Given the description of an element on the screen output the (x, y) to click on. 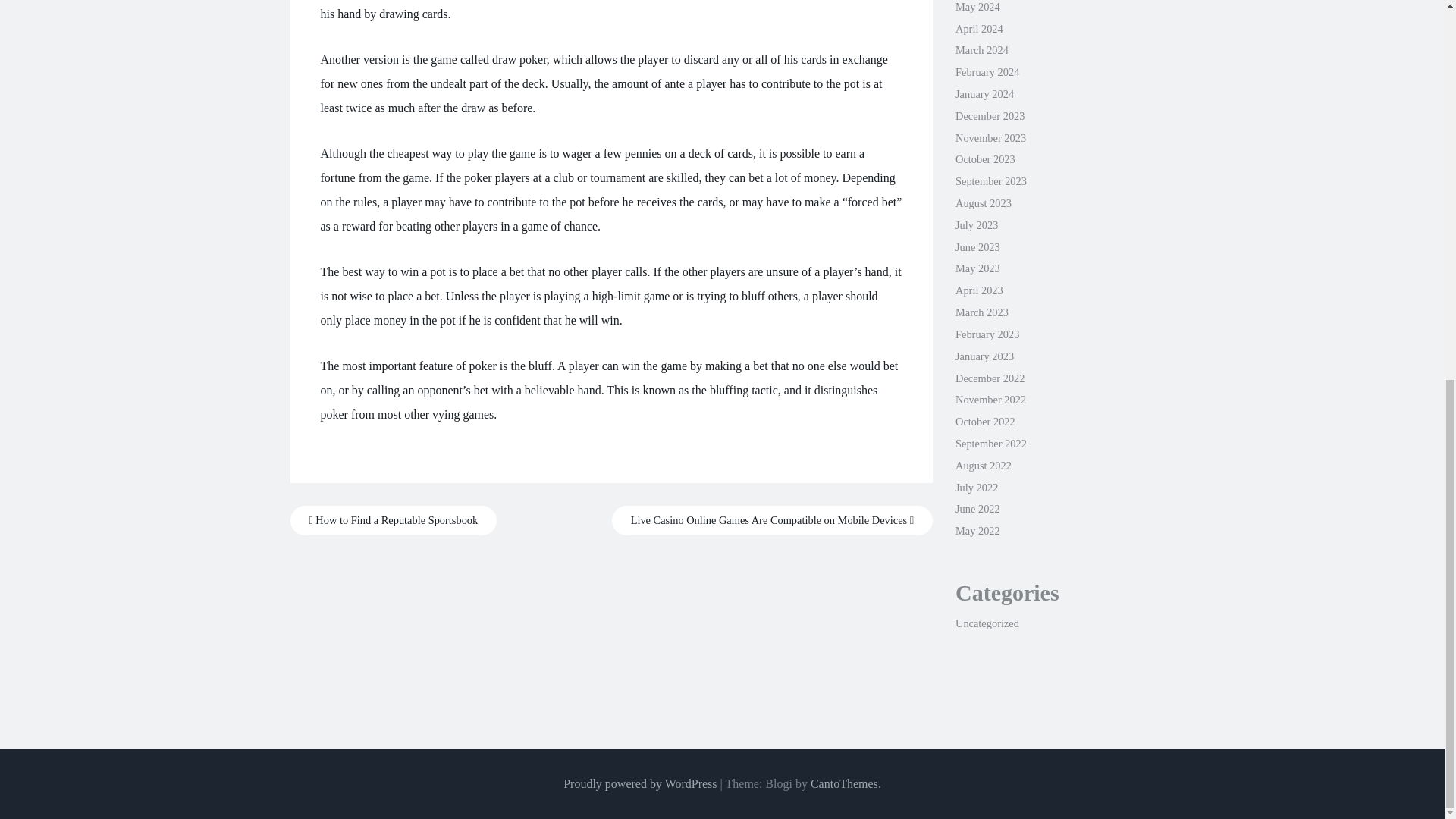
How to Find a Reputable Sportsbook (392, 520)
May 2024 (977, 6)
May 2023 (977, 268)
Live Casino Online Games Are Compatible on Mobile Devices (772, 520)
October 2023 (984, 159)
July 2023 (976, 224)
January 2024 (984, 93)
November 2023 (990, 137)
March 2024 (982, 50)
June 2023 (977, 246)
April 2023 (979, 290)
August 2023 (983, 203)
February 2024 (987, 71)
September 2023 (990, 181)
December 2023 (990, 115)
